Given the description of an element on the screen output the (x, y) to click on. 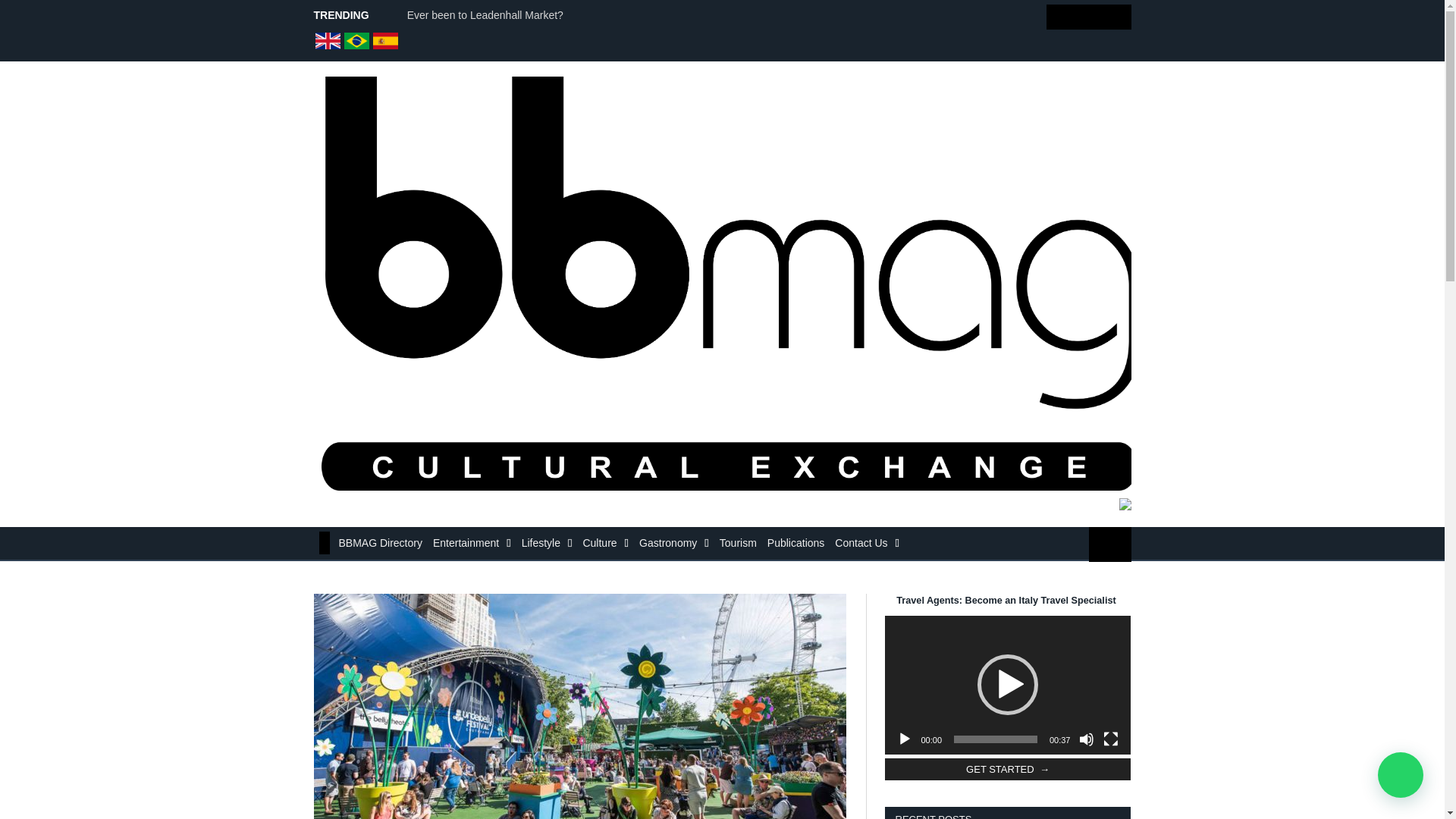
Ever been to Leadenhall Market? (488, 15)
Ever been to Leadenhall Market? (488, 15)
